Given the description of an element on the screen output the (x, y) to click on. 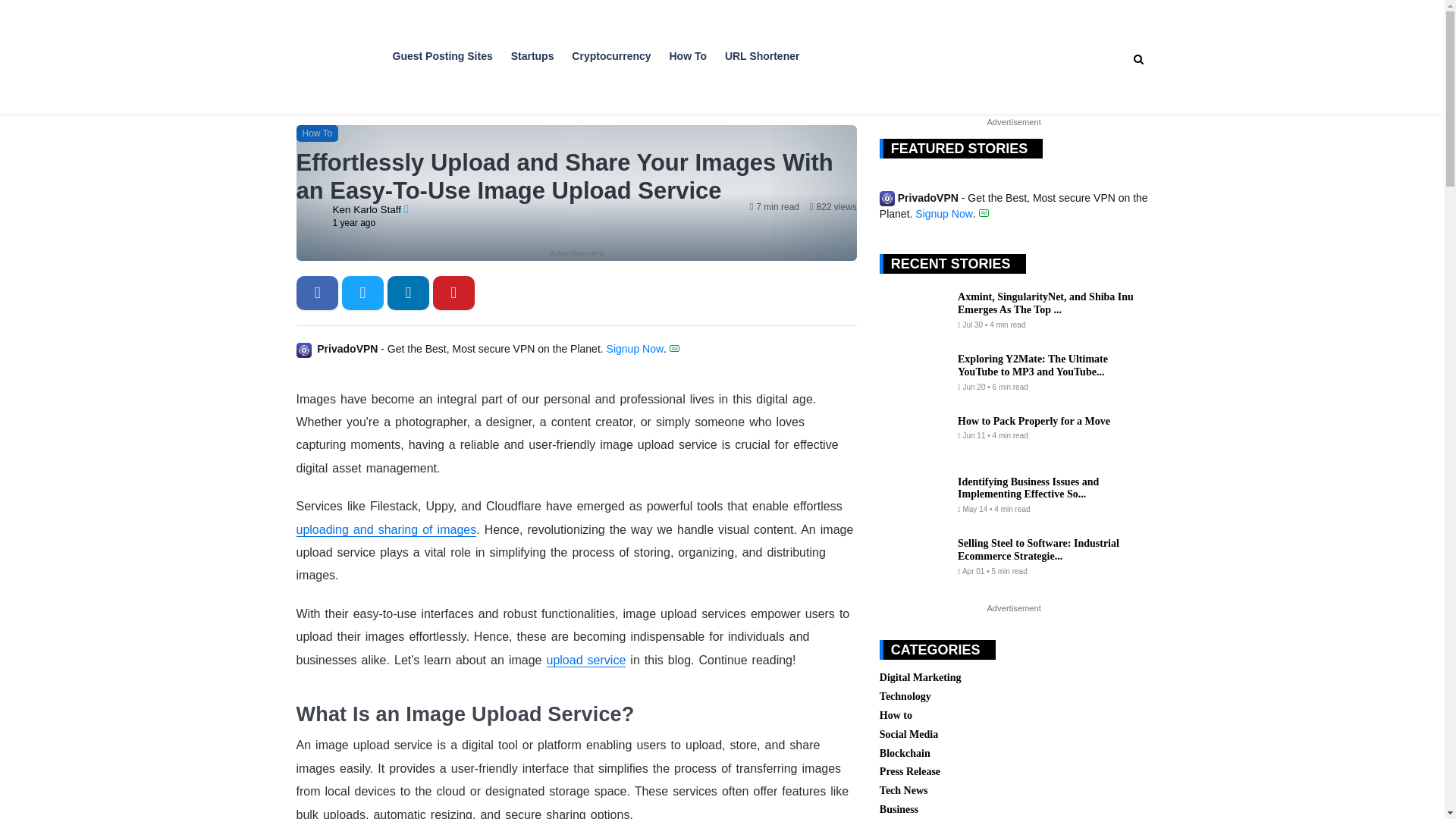
uploading and sharing of images (385, 530)
URL Shortener (762, 50)
Sponsored Ad (674, 348)
Ken Karlo Staff (367, 209)
Sponsored Ad (984, 212)
How To (316, 133)
Startups (532, 50)
upload service (586, 660)
Guest Posting Sites (443, 50)
Share to Linkedin (408, 293)
